Given the description of an element on the screen output the (x, y) to click on. 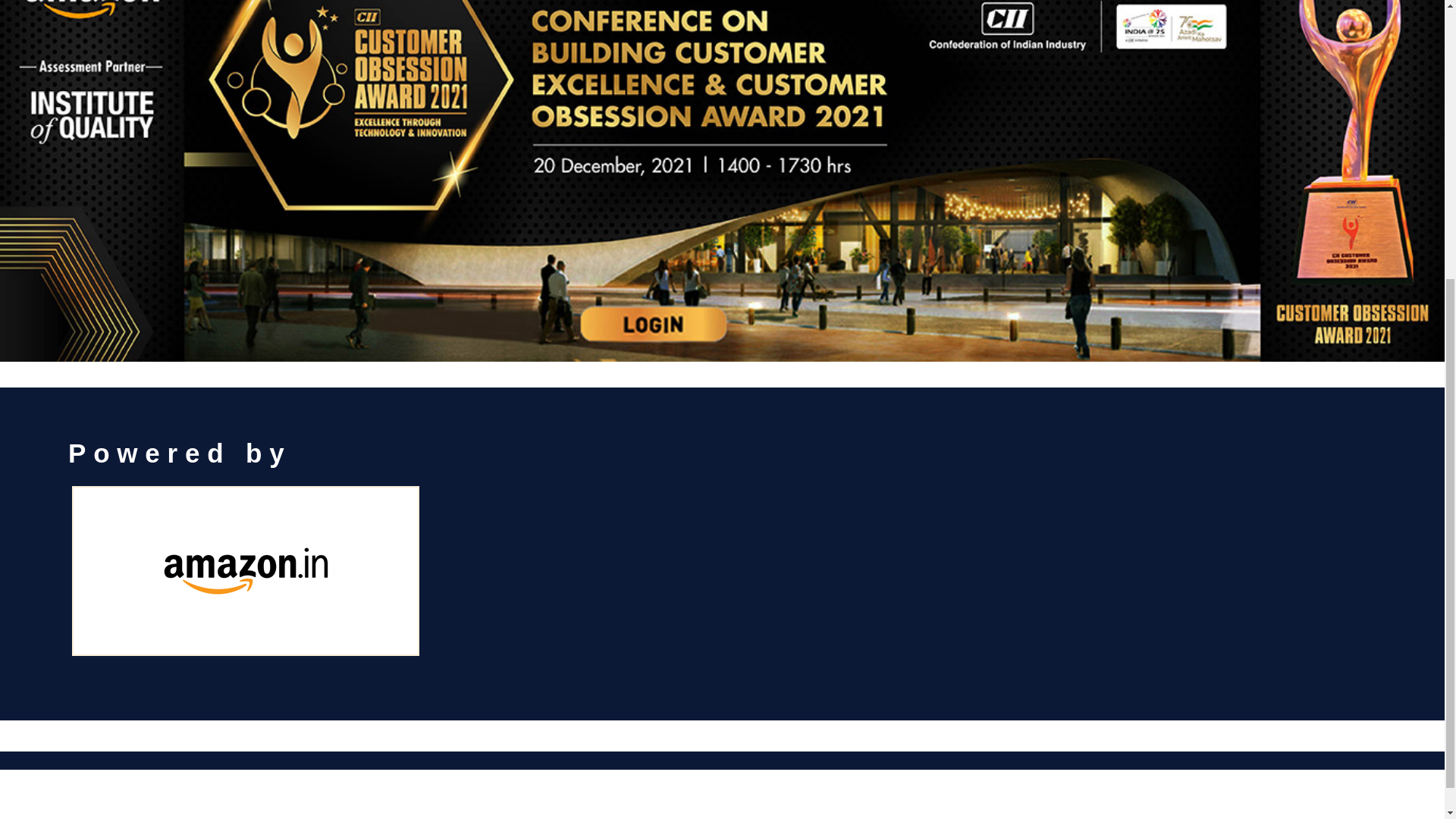
Amazon (74, 363)
Amazon (245, 571)
